Given the description of an element on the screen output the (x, y) to click on. 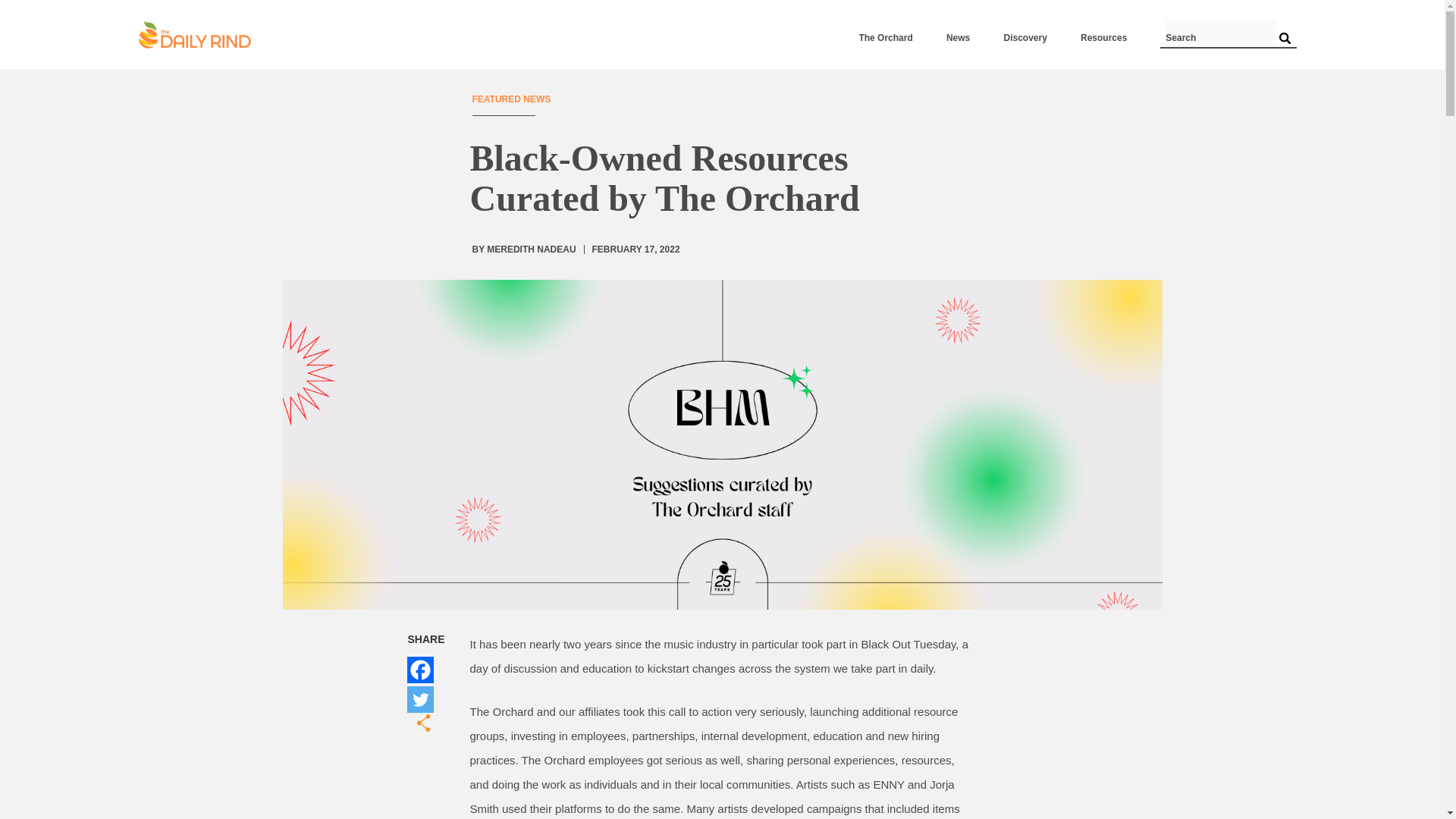
FEATURED NEWS (510, 99)
More (425, 723)
Twitter (419, 699)
Facebook (419, 669)
Resources (1103, 37)
Discovery (1024, 37)
The Orchard (885, 37)
News (957, 37)
